Given the description of an element on the screen output the (x, y) to click on. 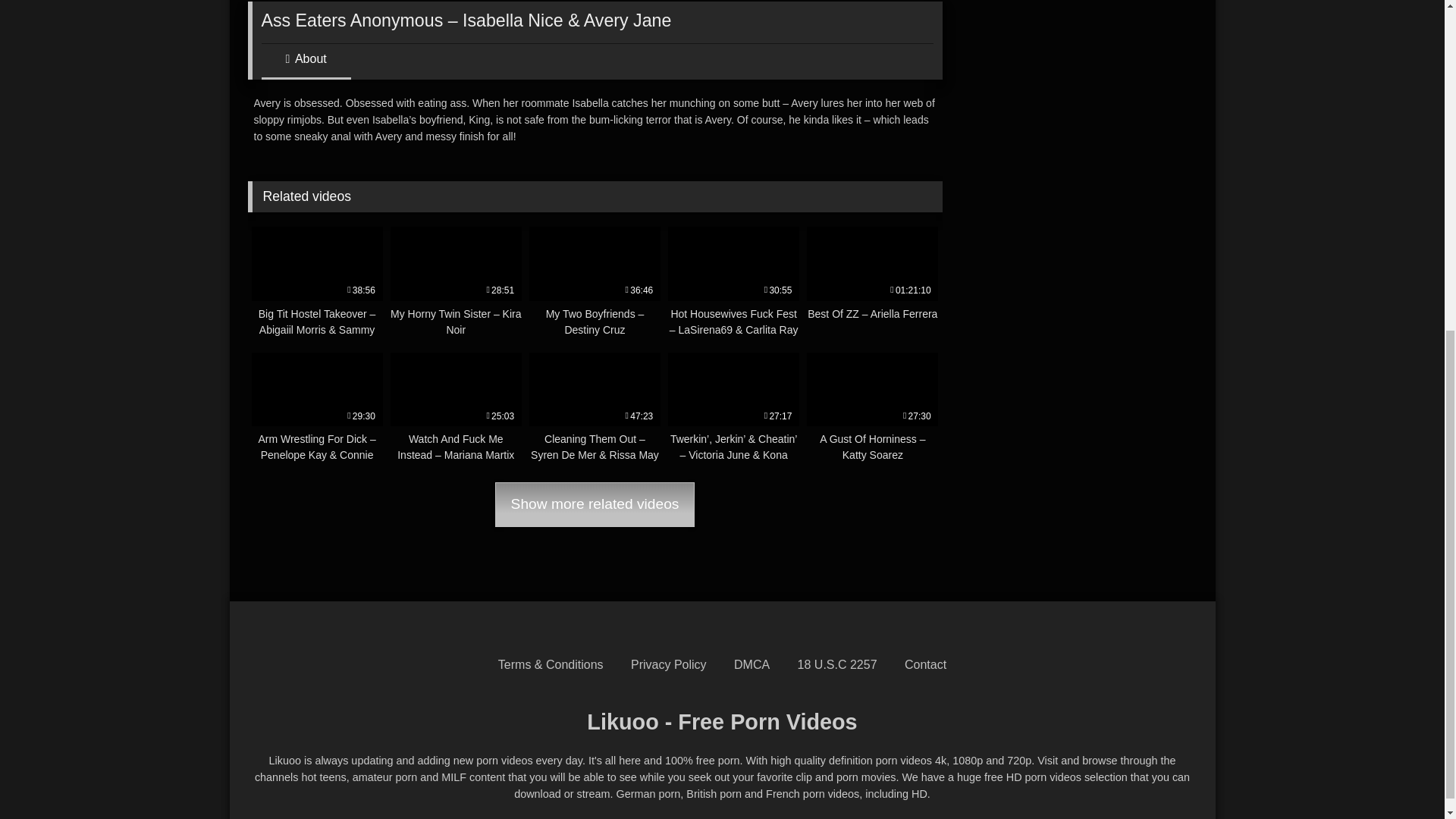
Privacy Policy (668, 664)
DMCA (751, 664)
18 U.S.C 2257 (837, 664)
About (305, 64)
Show more related videos (594, 504)
Contact (925, 664)
